Given the description of an element on the screen output the (x, y) to click on. 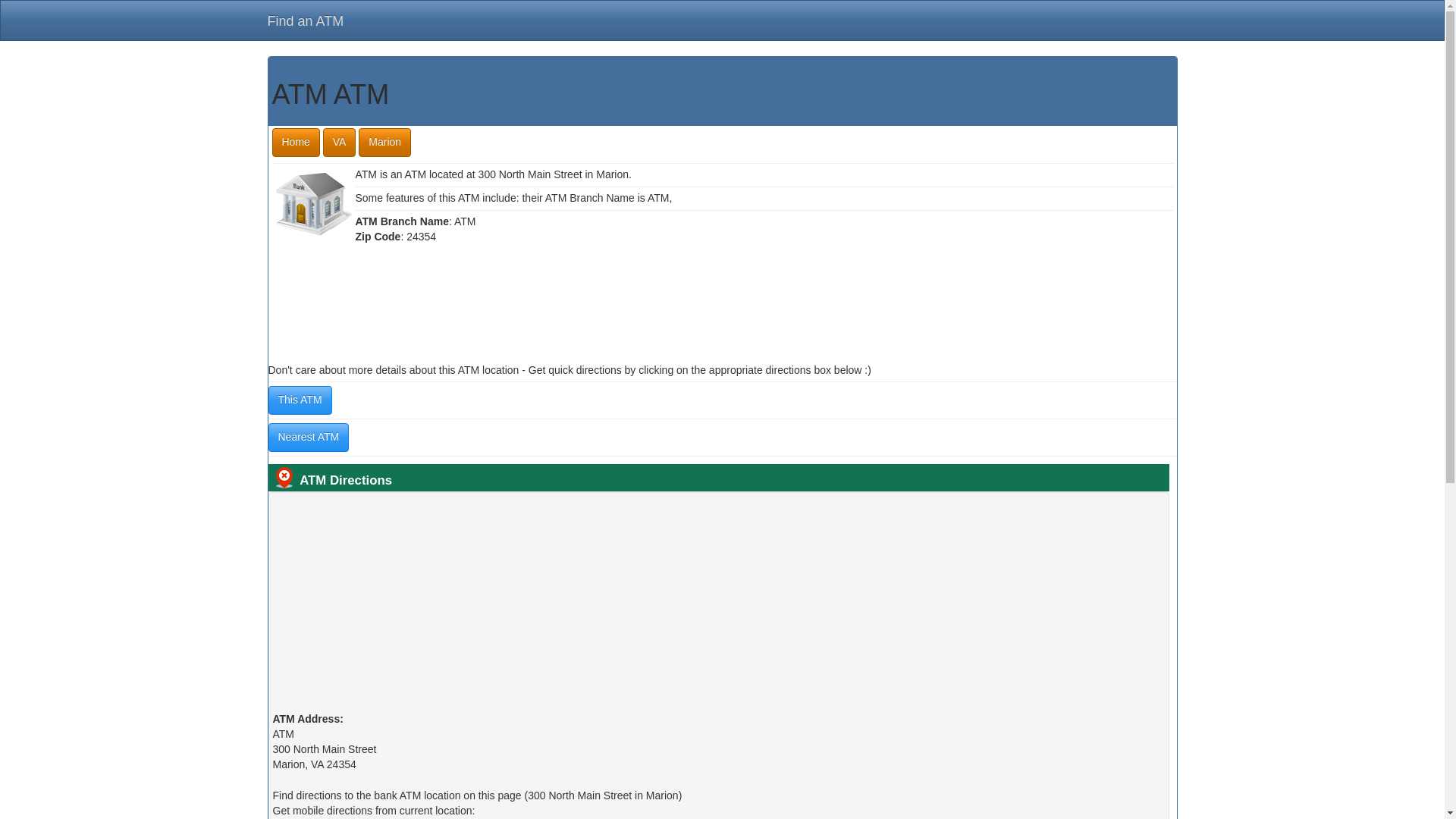
Where's My Bank Branch Locator Home (294, 142)
Banks in VA (339, 142)
Nearest ATM (308, 437)
Find an ATM (305, 21)
Home (294, 142)
This ATM (299, 399)
Nearest ATM (308, 437)
This ATM (299, 399)
VA (339, 142)
Marion (384, 142)
